Given the description of an element on the screen output the (x, y) to click on. 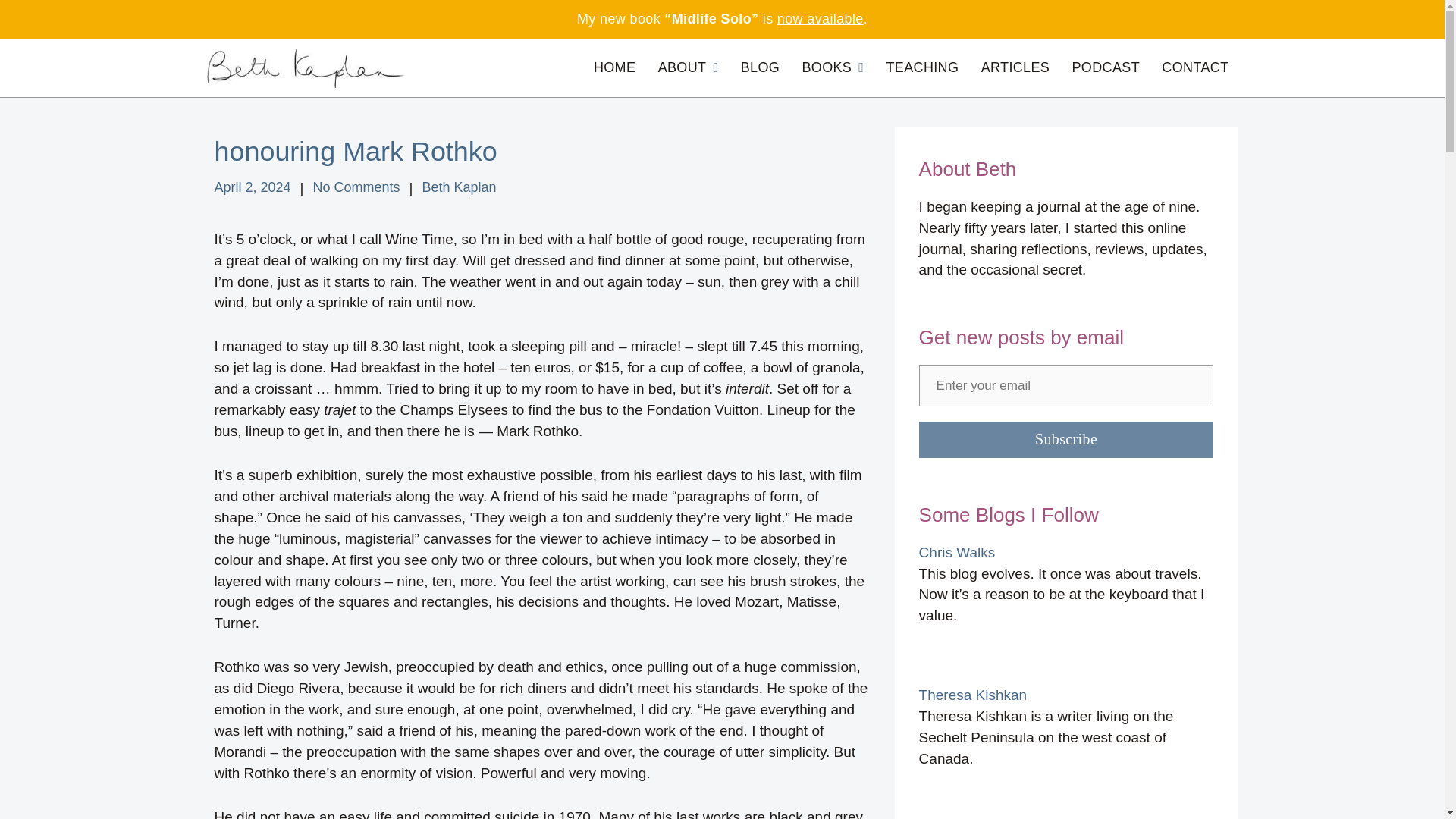
Theresa Kishkan (972, 694)
BLOG (760, 68)
ABOUT (688, 68)
CONTACT (1195, 68)
PODCAST (1105, 68)
ARTICLES (1015, 68)
now available (820, 18)
HOME (615, 68)
Beth Kaplan (459, 188)
Subscribe (1066, 439)
BOOKS (832, 68)
Chris Walks (956, 552)
No Comments (356, 188)
TEACHING (922, 68)
